Given the description of an element on the screen output the (x, y) to click on. 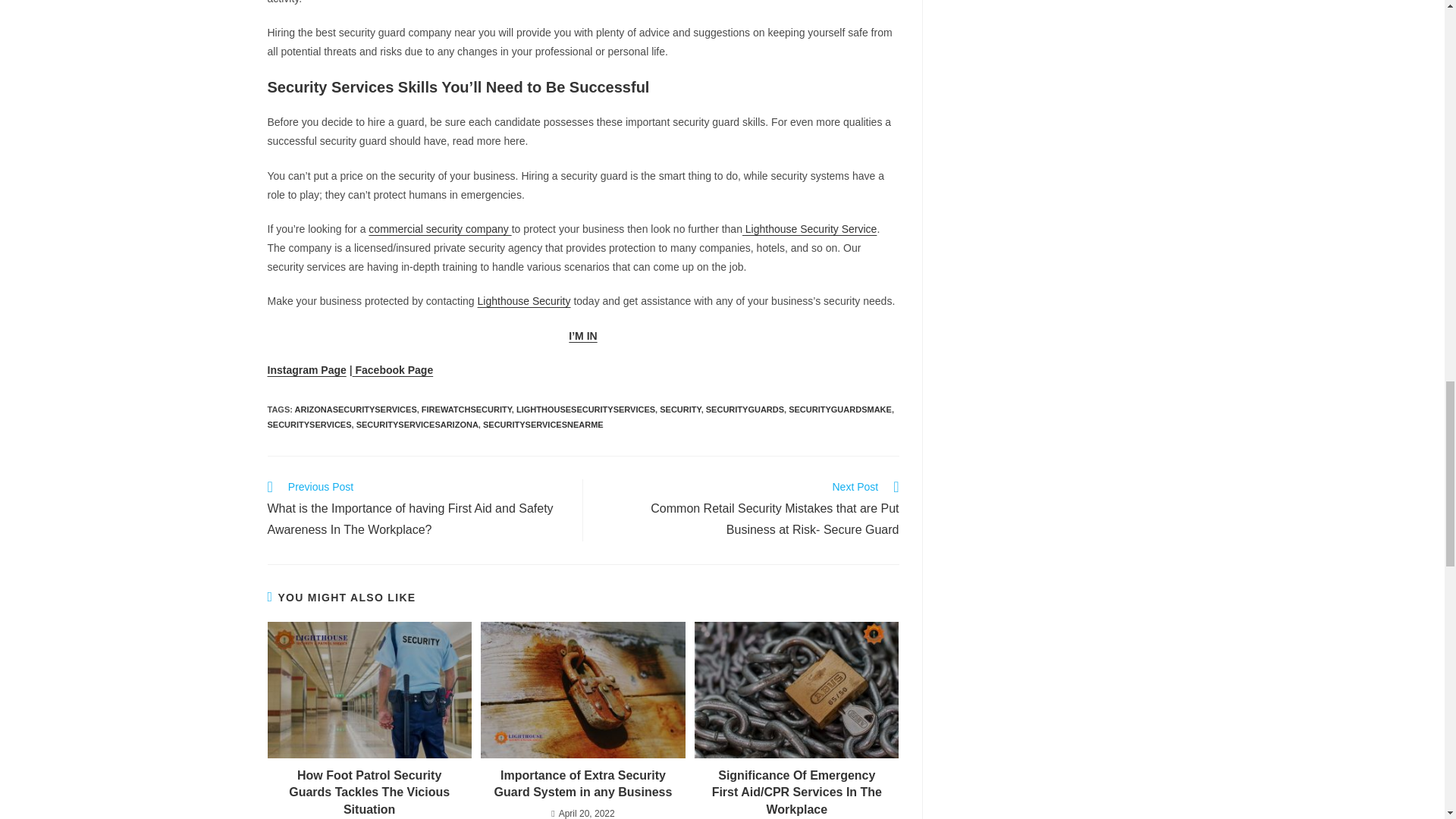
SECURITYSERVICES (308, 424)
SECURITYGUARDS (745, 409)
LIGHTHOUSESECURITYSERVICES (585, 409)
Lighthouse Security (523, 300)
Lighthouse Security Service (809, 228)
commercial security company  (439, 228)
SECURITYSERVICESNEARME (543, 424)
SECURITY (679, 409)
